Given the description of an element on the screen output the (x, y) to click on. 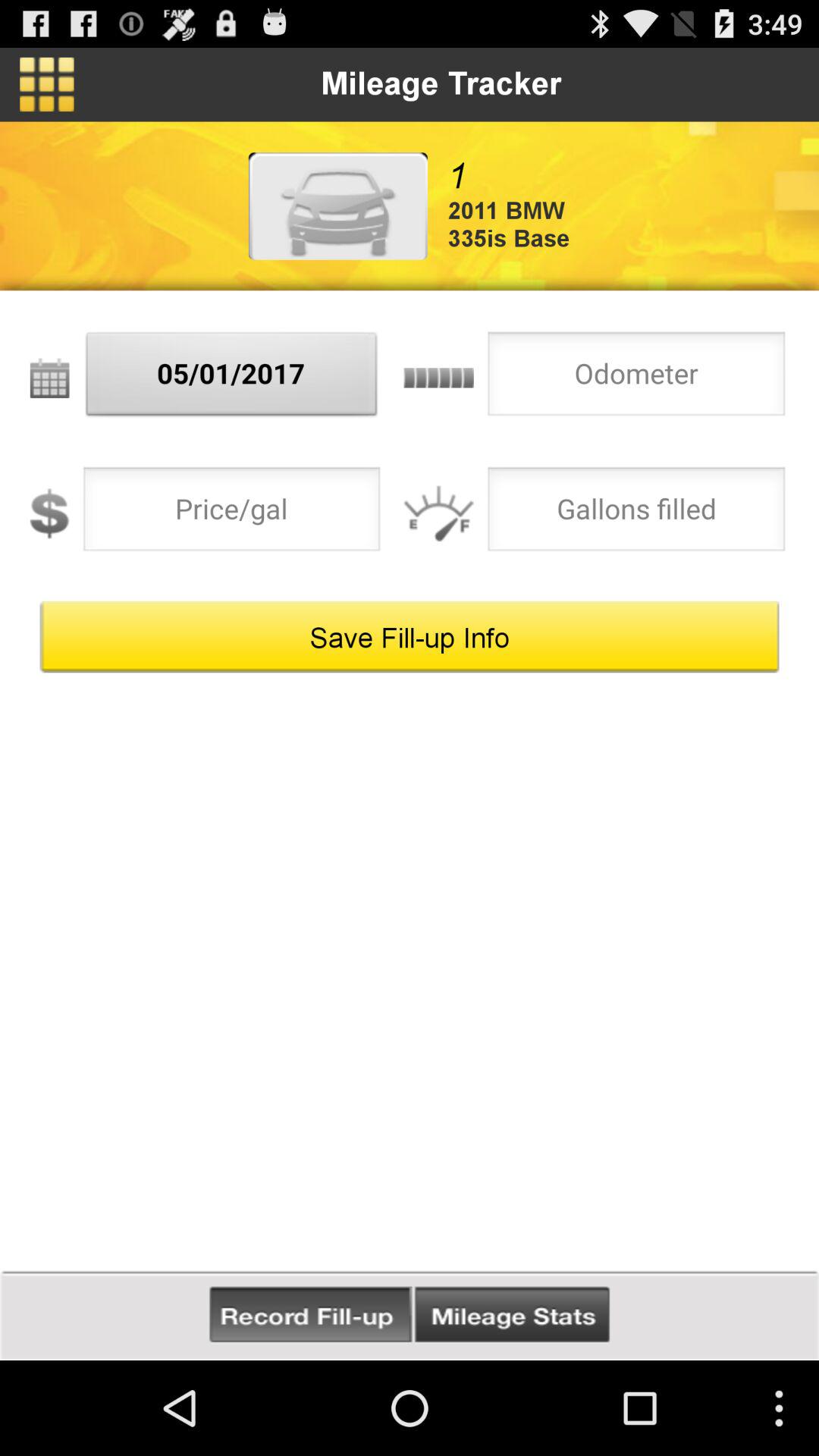
enter odometer (636, 377)
